Given the description of an element on the screen output the (x, y) to click on. 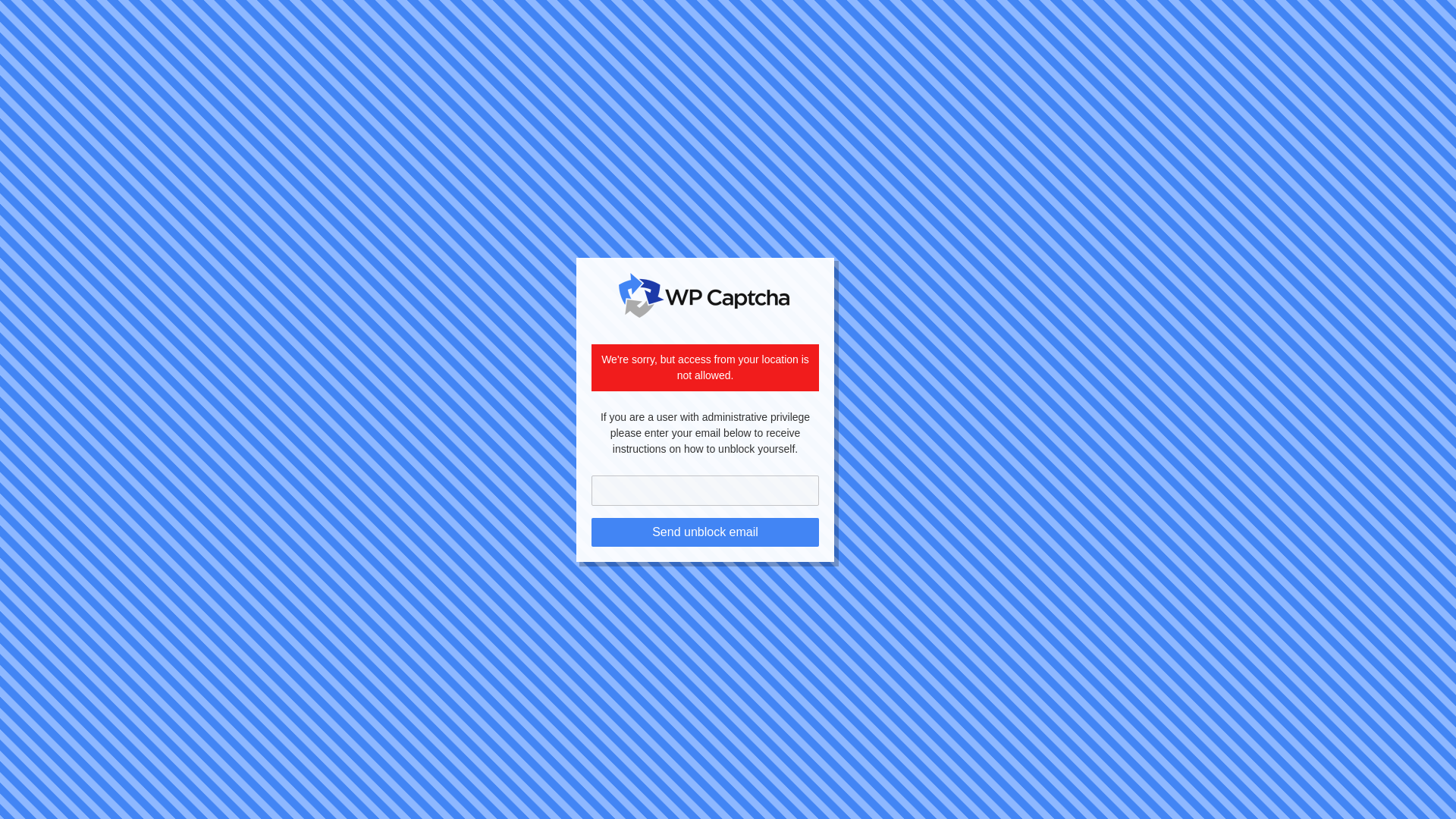
Send unblock email (704, 532)
Send unblock email (704, 532)
WP Captcha PRO (704, 295)
